Given the description of an element on the screen output the (x, y) to click on. 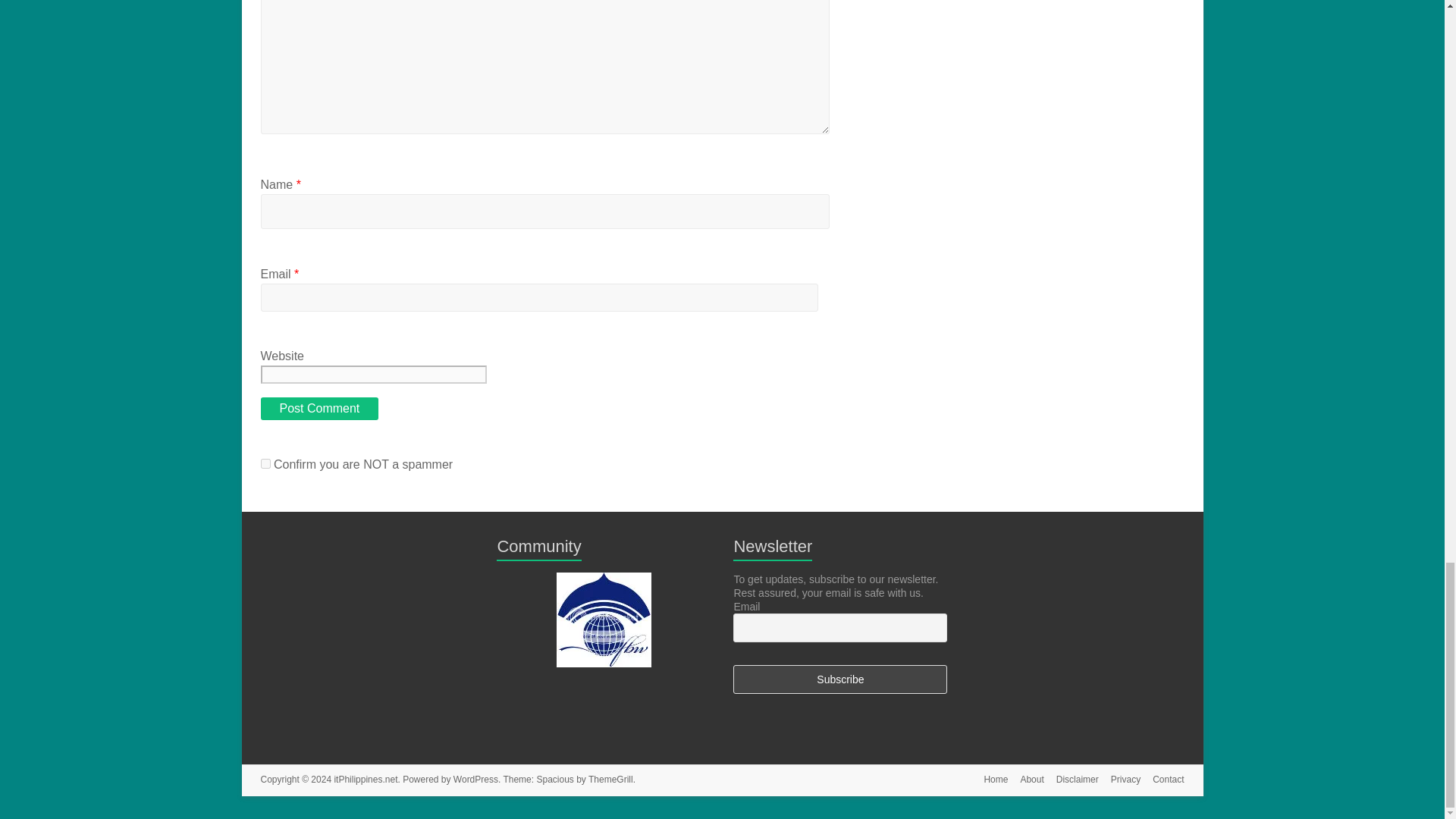
itPhilippines.net (365, 778)
on (265, 463)
WordPress (474, 778)
Post Comment (319, 408)
Subscribe (840, 679)
ThemeGrill (610, 778)
